Given the description of an element on the screen output the (x, y) to click on. 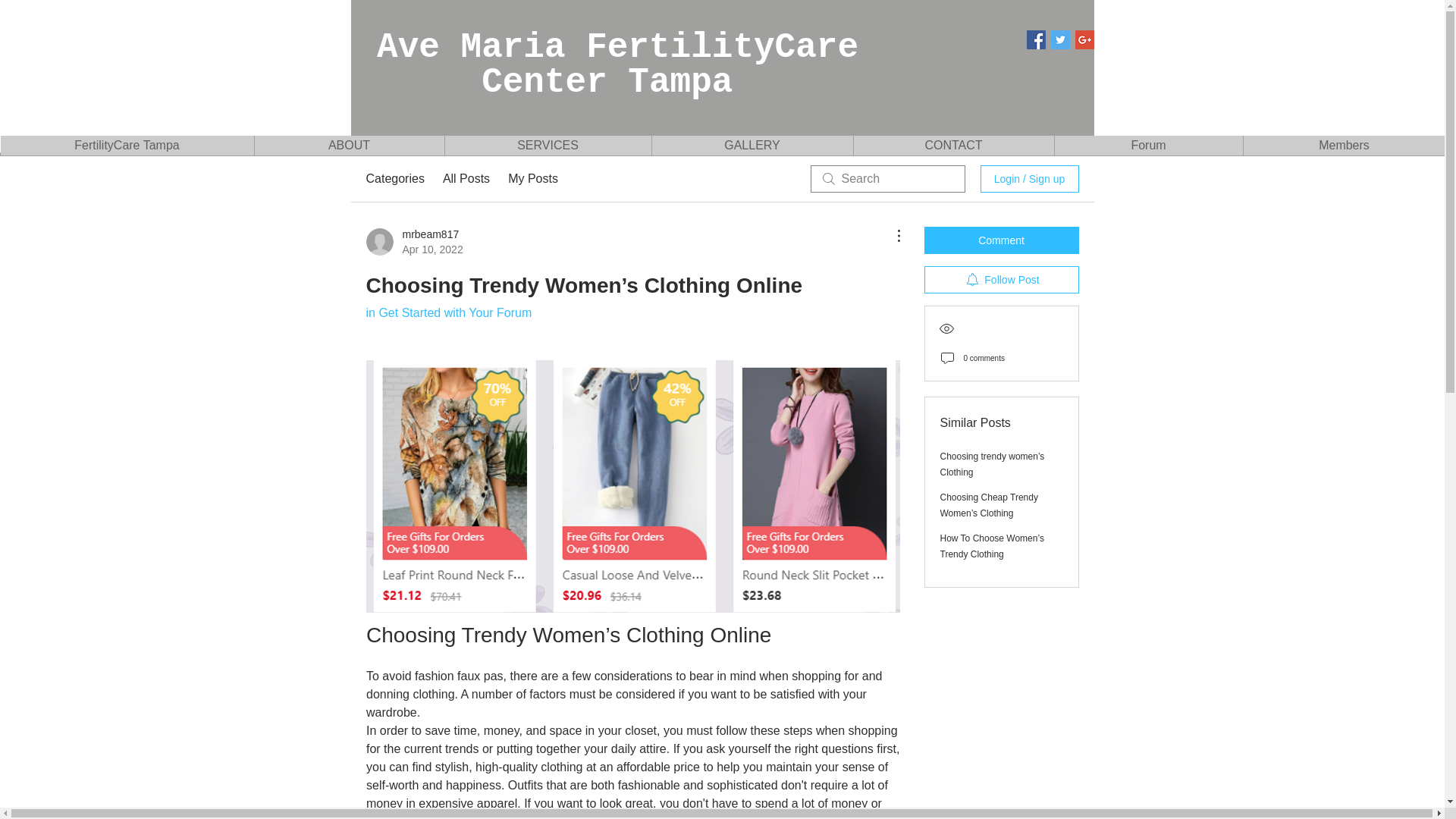
My Posts (532, 178)
 Ave Maria FertilityCare      (659, 47)
in Get Started with Your Forum (448, 312)
Comment (1000, 239)
ABOUT (348, 145)
All Posts (465, 178)
      Center Tampa  (555, 82)
SERVICES (547, 145)
CONTACT (951, 145)
FertilityCare Tampa (126, 145)
